Given the description of an element on the screen output the (x, y) to click on. 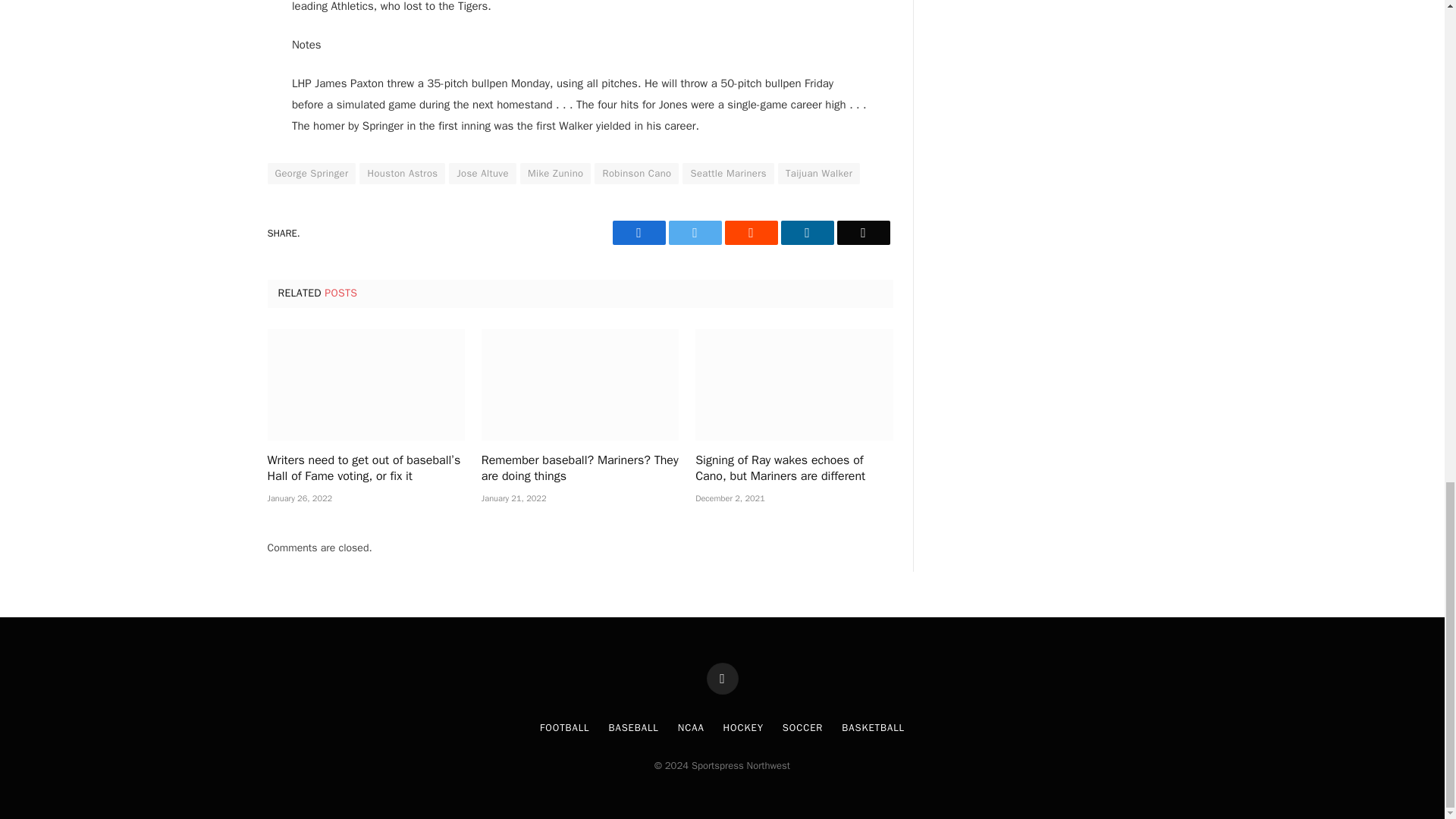
Robinson Cano (636, 173)
Houston Astros (402, 173)
Reddit (751, 232)
George Springer (310, 173)
Seattle Mariners (727, 173)
Share on Twitter (638, 232)
Taijuan Walker (818, 173)
Twitter (695, 232)
Jose Altuve (481, 173)
Facebook (638, 232)
